Given the description of an element on the screen output the (x, y) to click on. 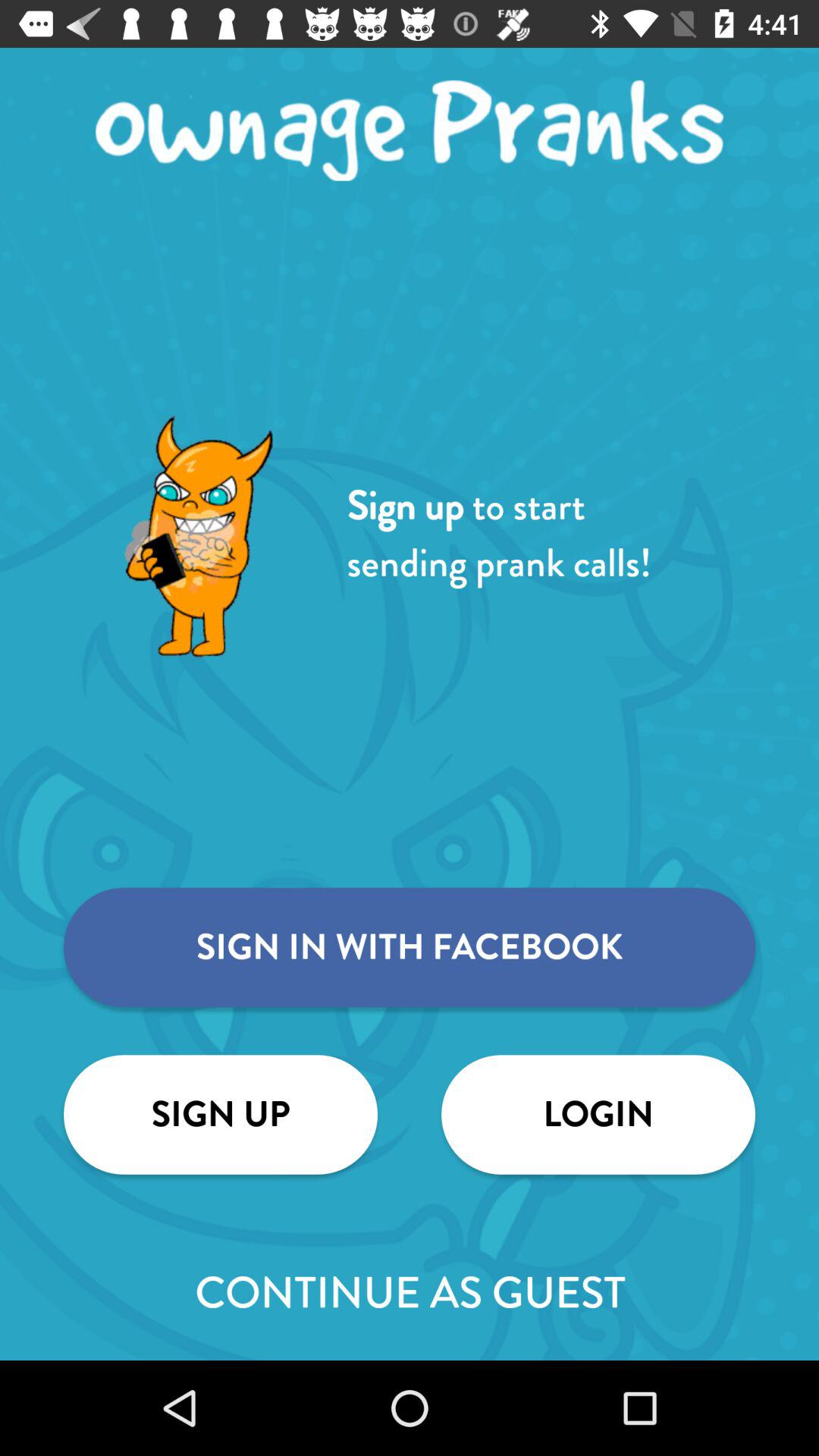
choose login (598, 1114)
